Given the description of an element on the screen output the (x, y) to click on. 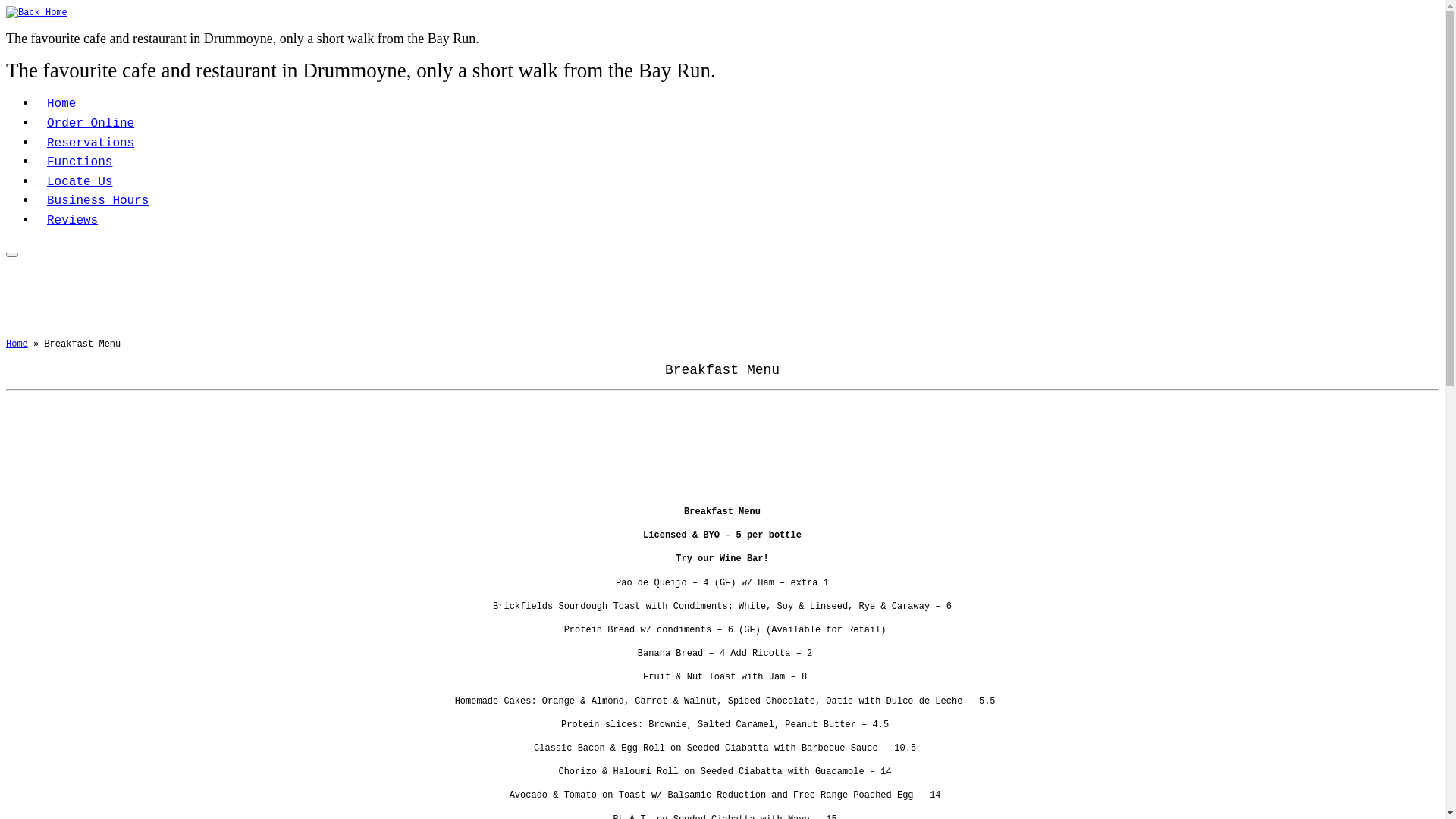
Functions Element type: text (79, 161)
Home Element type: text (61, 103)
Business Hours Element type: text (97, 200)
Open the menu Element type: hover (12, 254)
Reservations Element type: text (90, 142)
Reviews Element type: text (72, 220)
Order Online Element type: text (90, 123)
Home Element type: text (17, 343)
Locate Us Element type: text (79, 181)
